Given the description of an element on the screen output the (x, y) to click on. 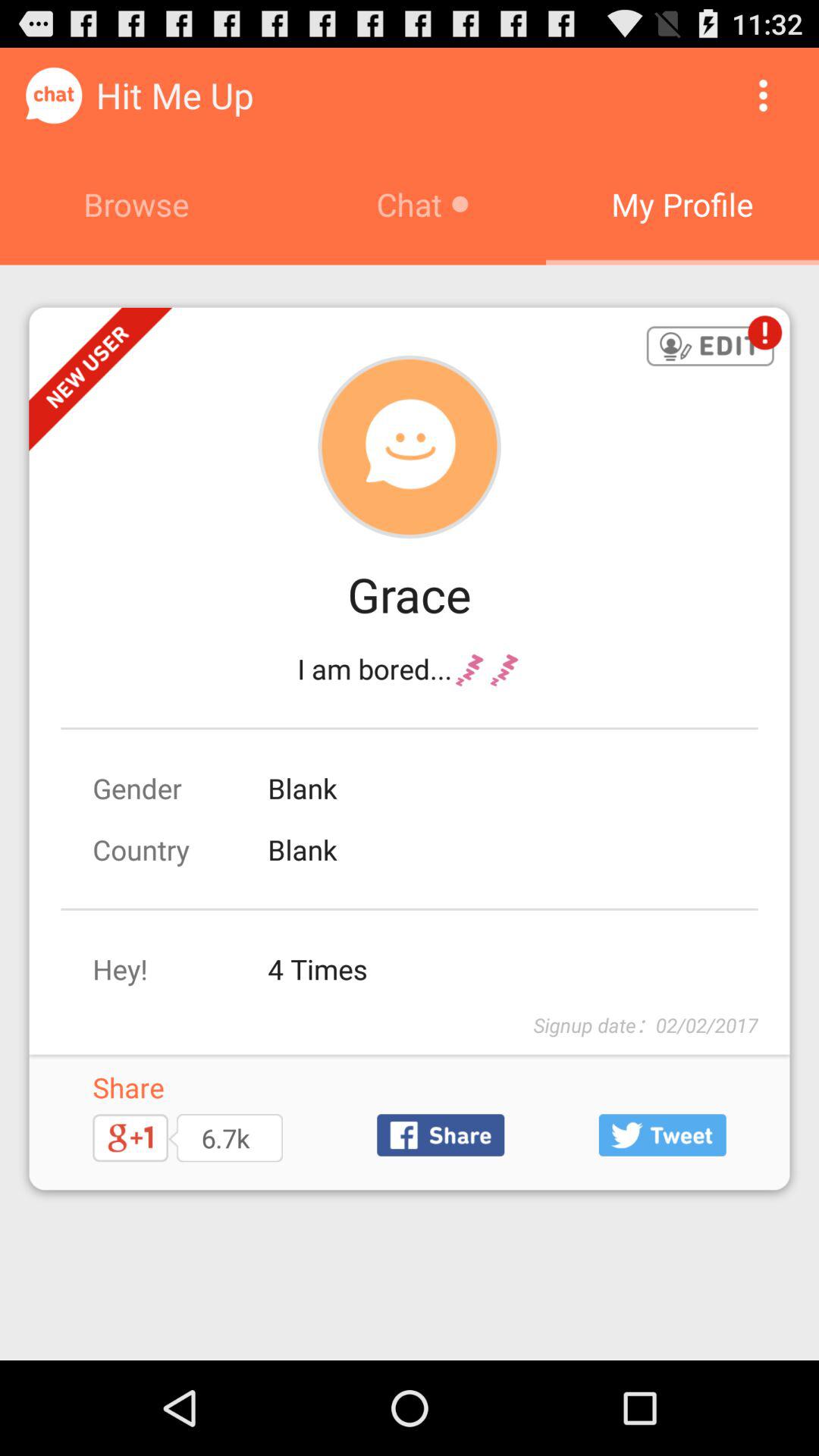
share on twitter (662, 1135)
